Given the description of an element on the screen output the (x, y) to click on. 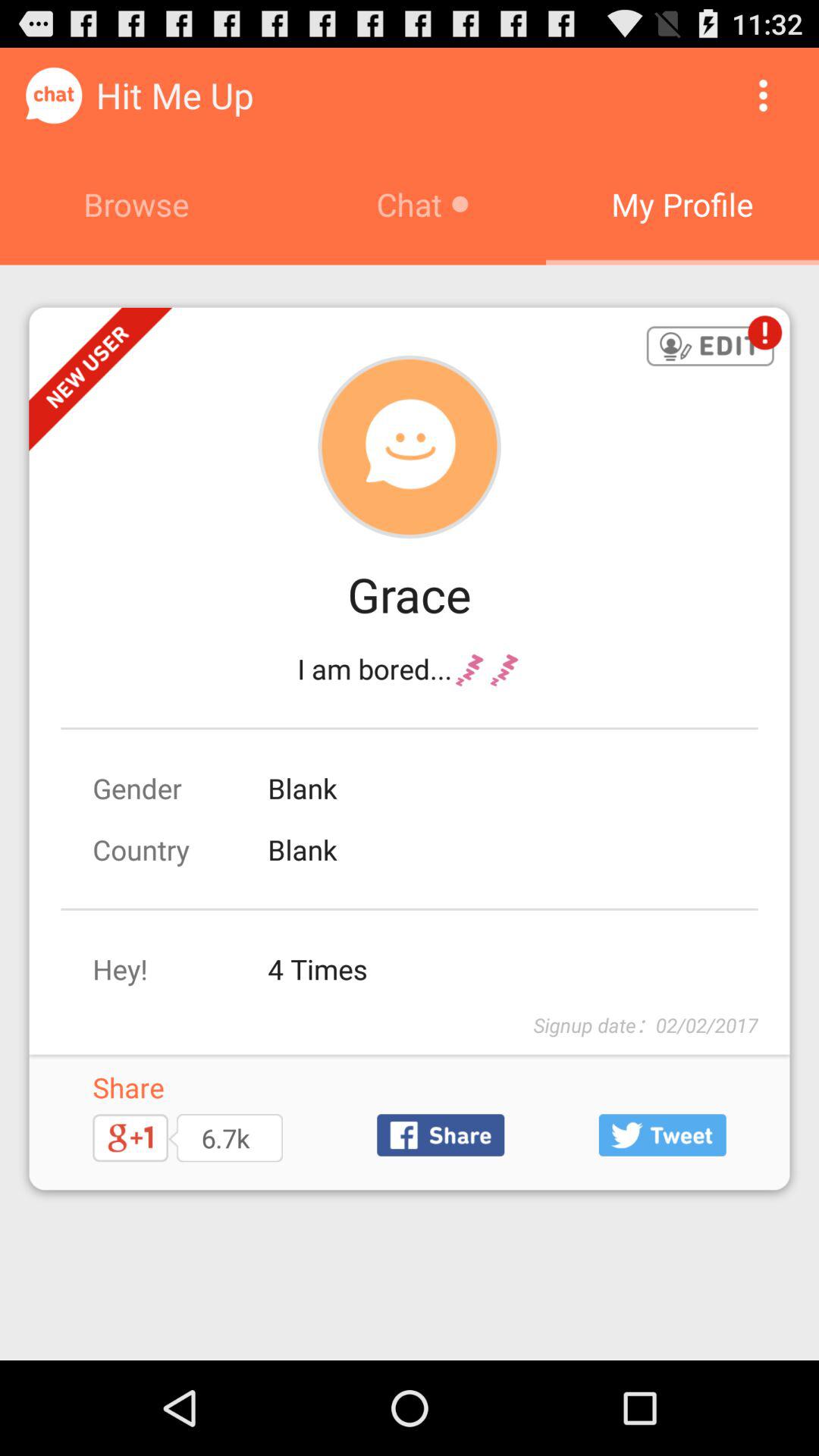
share on twitter (662, 1135)
